Given the description of an element on the screen output the (x, y) to click on. 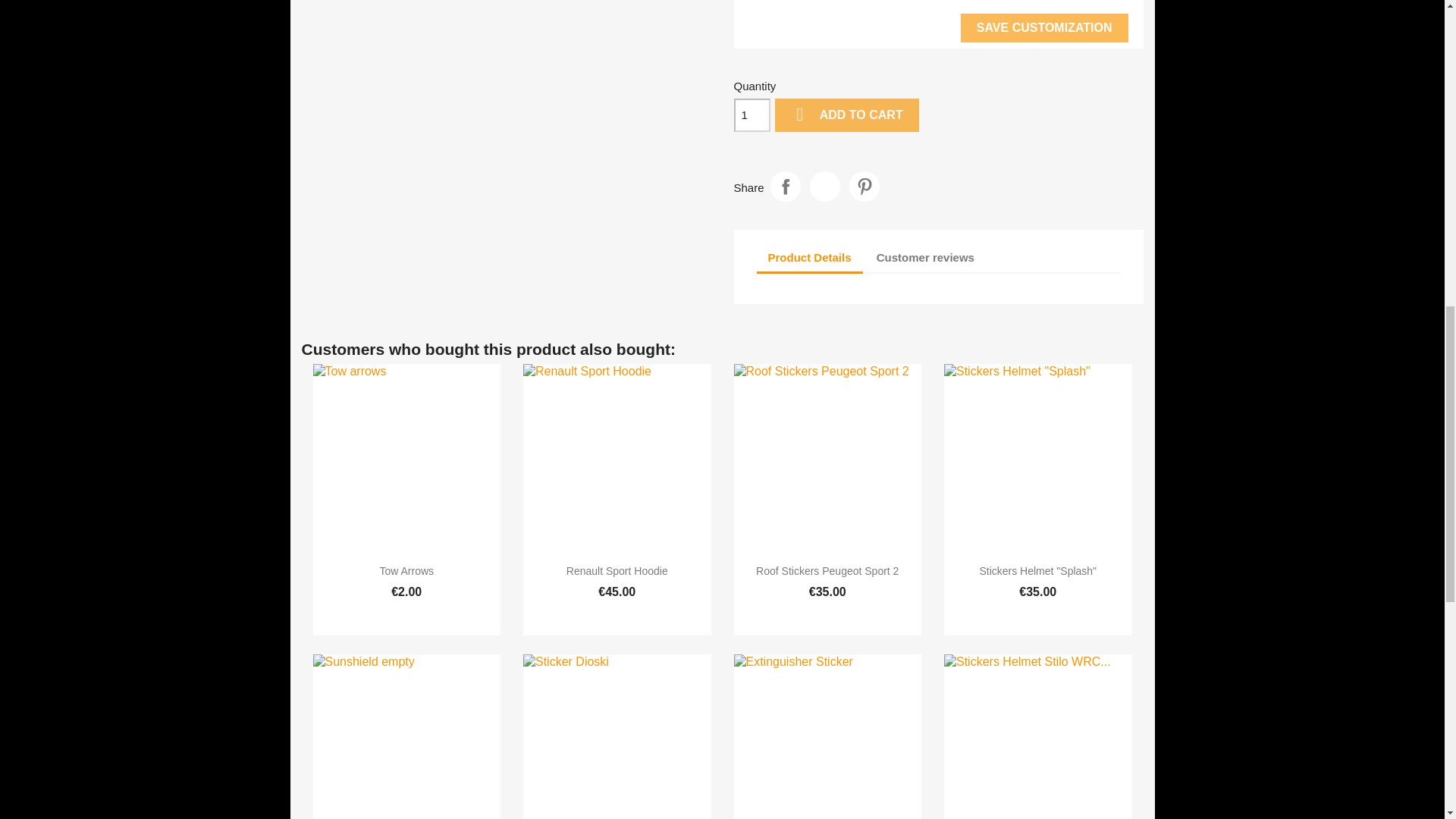
Pinterest (863, 186)
1 (751, 114)
Tweet (824, 186)
Share (785, 186)
